Given the description of an element on the screen output the (x, y) to click on. 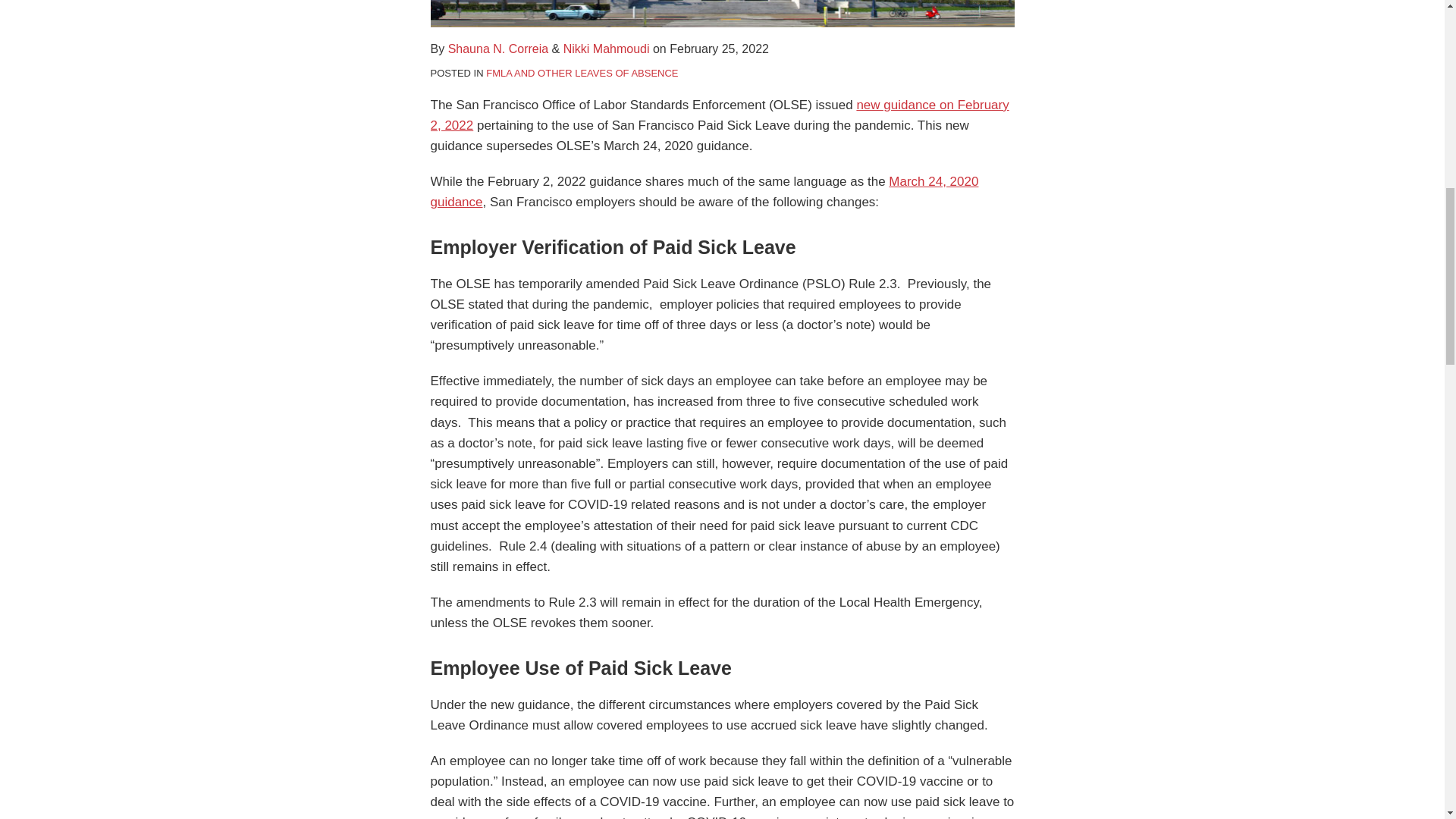
Shauna N. Correia (498, 48)
FMLA AND OTHER LEAVES OF ABSENCE (582, 72)
Nikki Mahmoudi (606, 48)
March 24, 2020 guidance (704, 191)
new guidance on February 2, 2022 (719, 114)
